Given the description of an element on the screen output the (x, y) to click on. 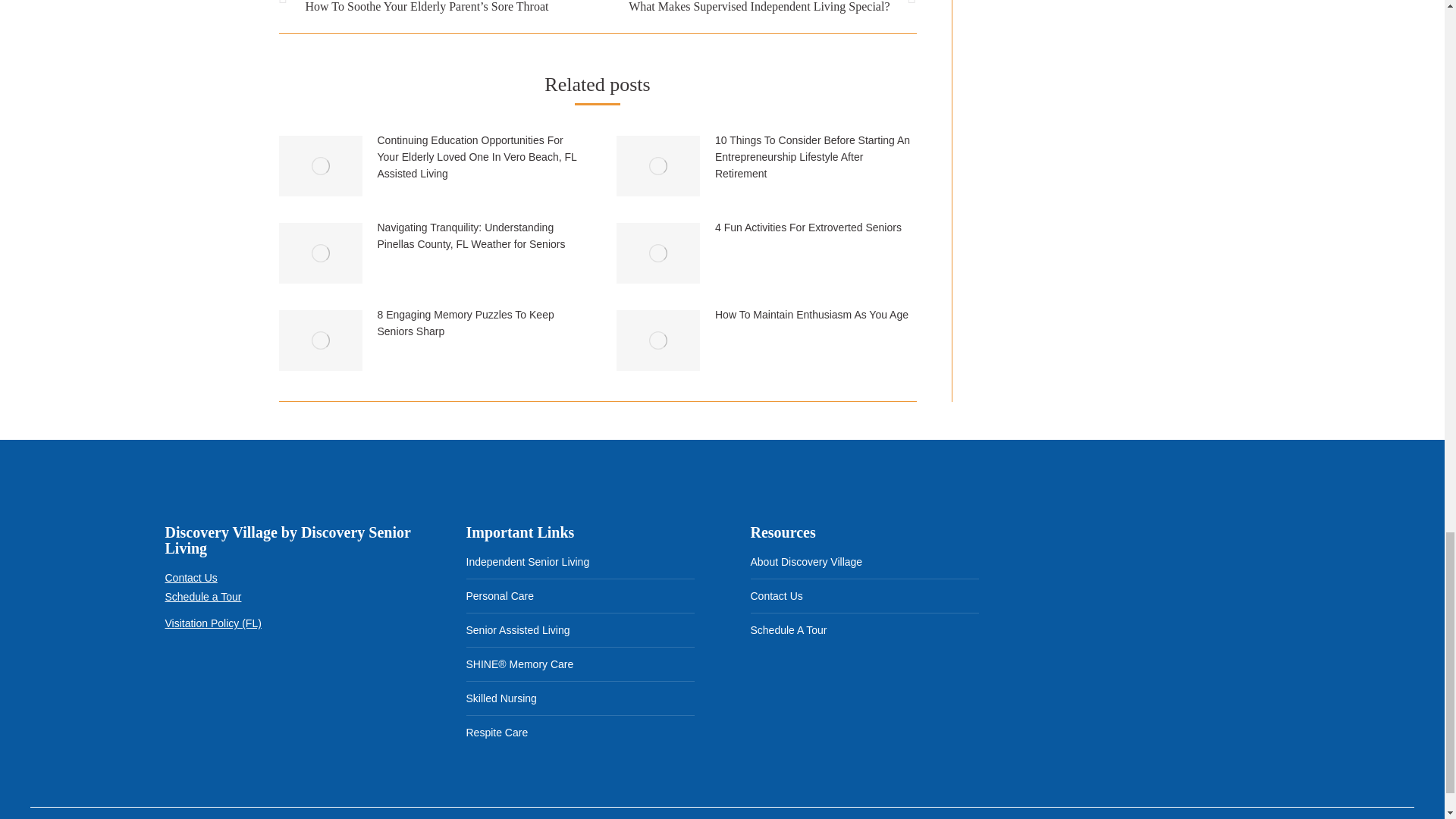
Equal-Housing-Opportunity-logo222 (189, 682)
Equal-Housing-Opportunity-logo22-150x144 (259, 682)
Discovery Map (1148, 610)
